Given the description of an element on the screen output the (x, y) to click on. 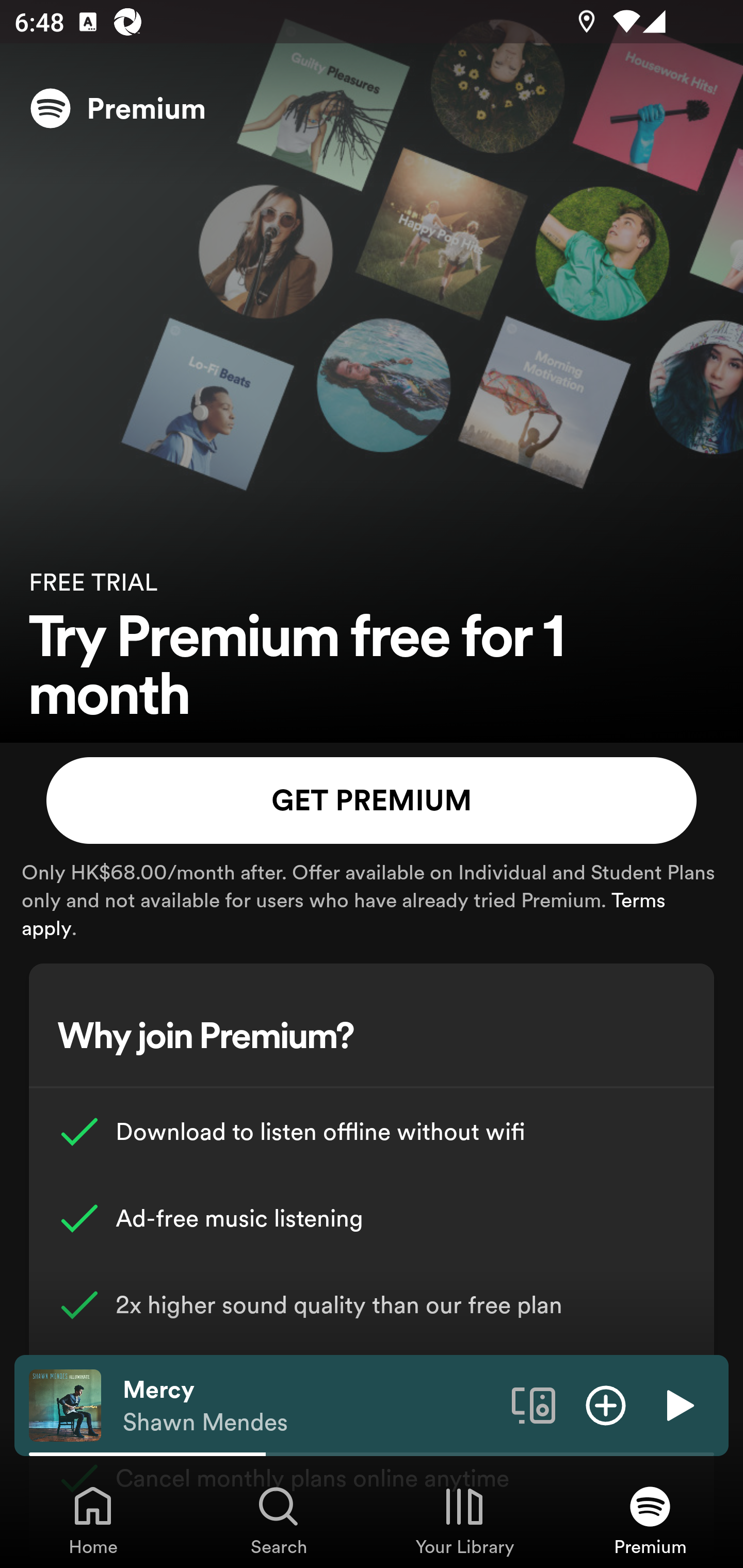
GET PREMIUM (371, 800)
Mercy Shawn Mendes (309, 1405)
The cover art of the currently playing track (64, 1404)
Connect to a device. Opens the devices menu (533, 1404)
Add item (605, 1404)
Play (677, 1404)
Home, Tab 1 of 4 Home Home (92, 1519)
Search, Tab 2 of 4 Search Search (278, 1519)
Your Library, Tab 3 of 4 Your Library Your Library (464, 1519)
Premium, Tab 4 of 4 Premium Premium (650, 1519)
